Given the description of an element on the screen output the (x, y) to click on. 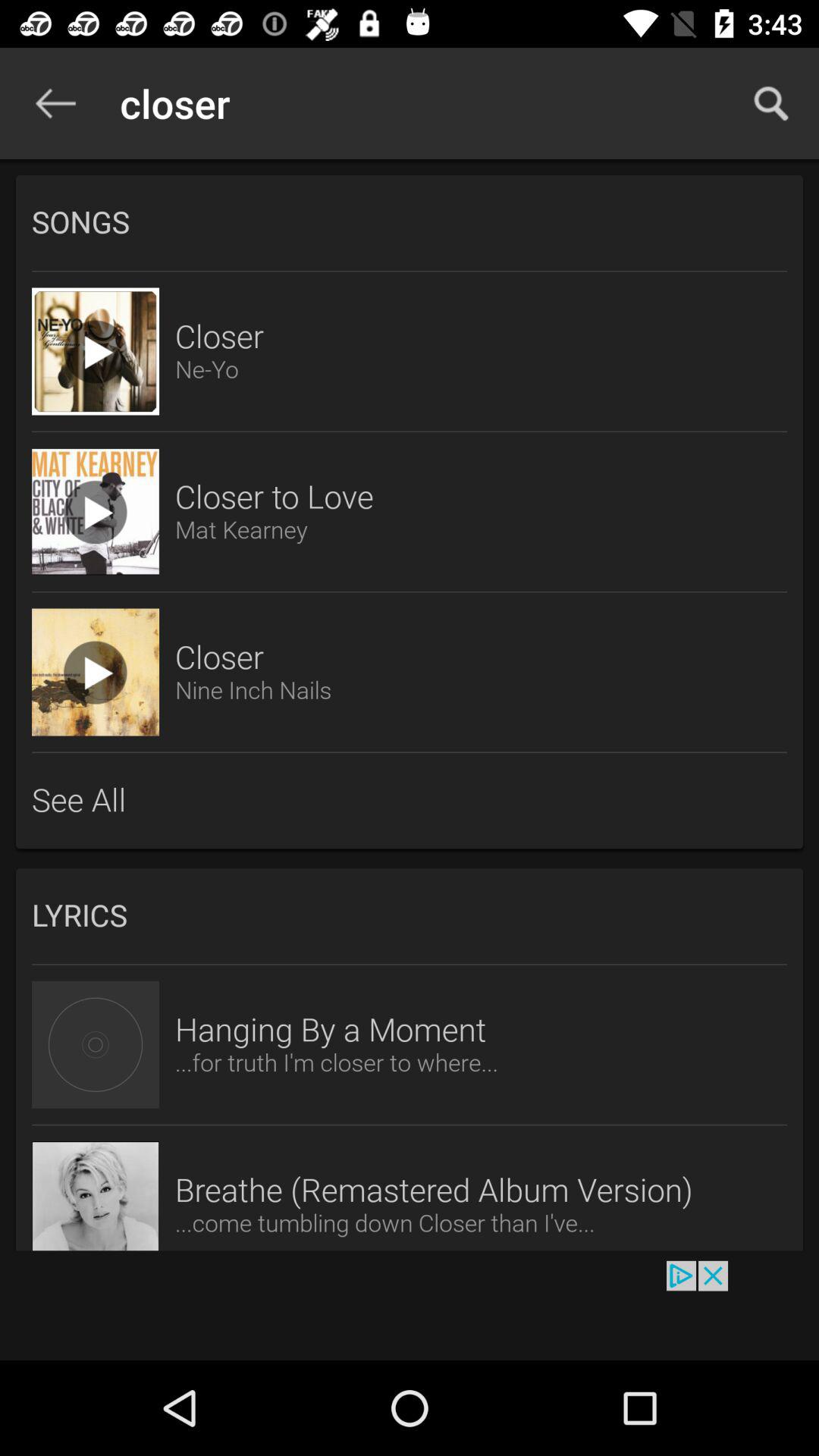
select icon at the top right corner (771, 103)
